Given the description of an element on the screen output the (x, y) to click on. 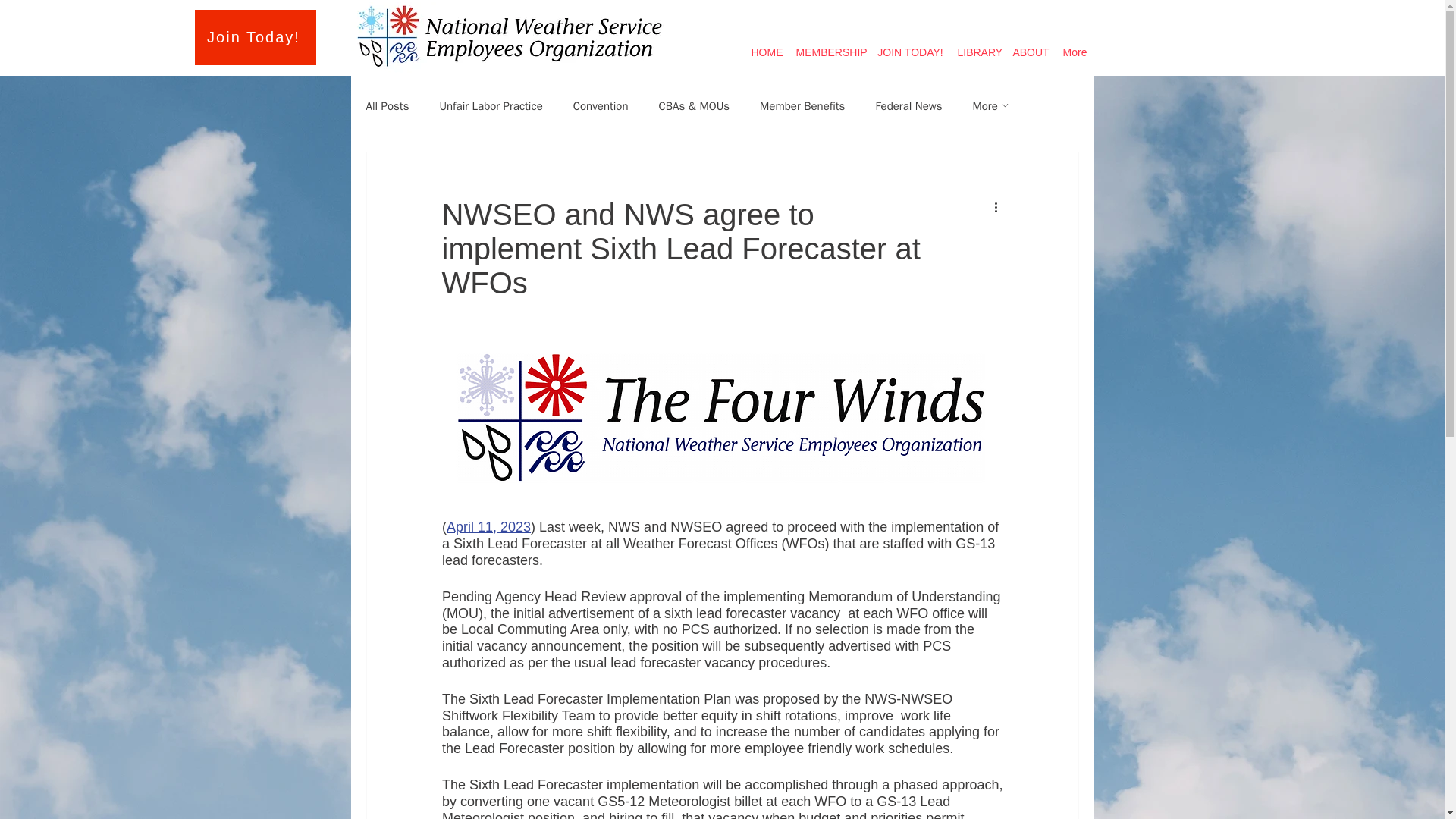
Member Benefits (802, 105)
Join Today! (254, 37)
ABOUT (1030, 45)
Unfair Labor Practice (490, 105)
LIBRARY (978, 45)
HOME (767, 45)
All Posts (387, 105)
JOIN TODAY! (909, 45)
April 11, 2023 (487, 526)
MEMBERSHIP (829, 45)
Federal News (908, 105)
Convention (600, 105)
